Given the description of an element on the screen output the (x, y) to click on. 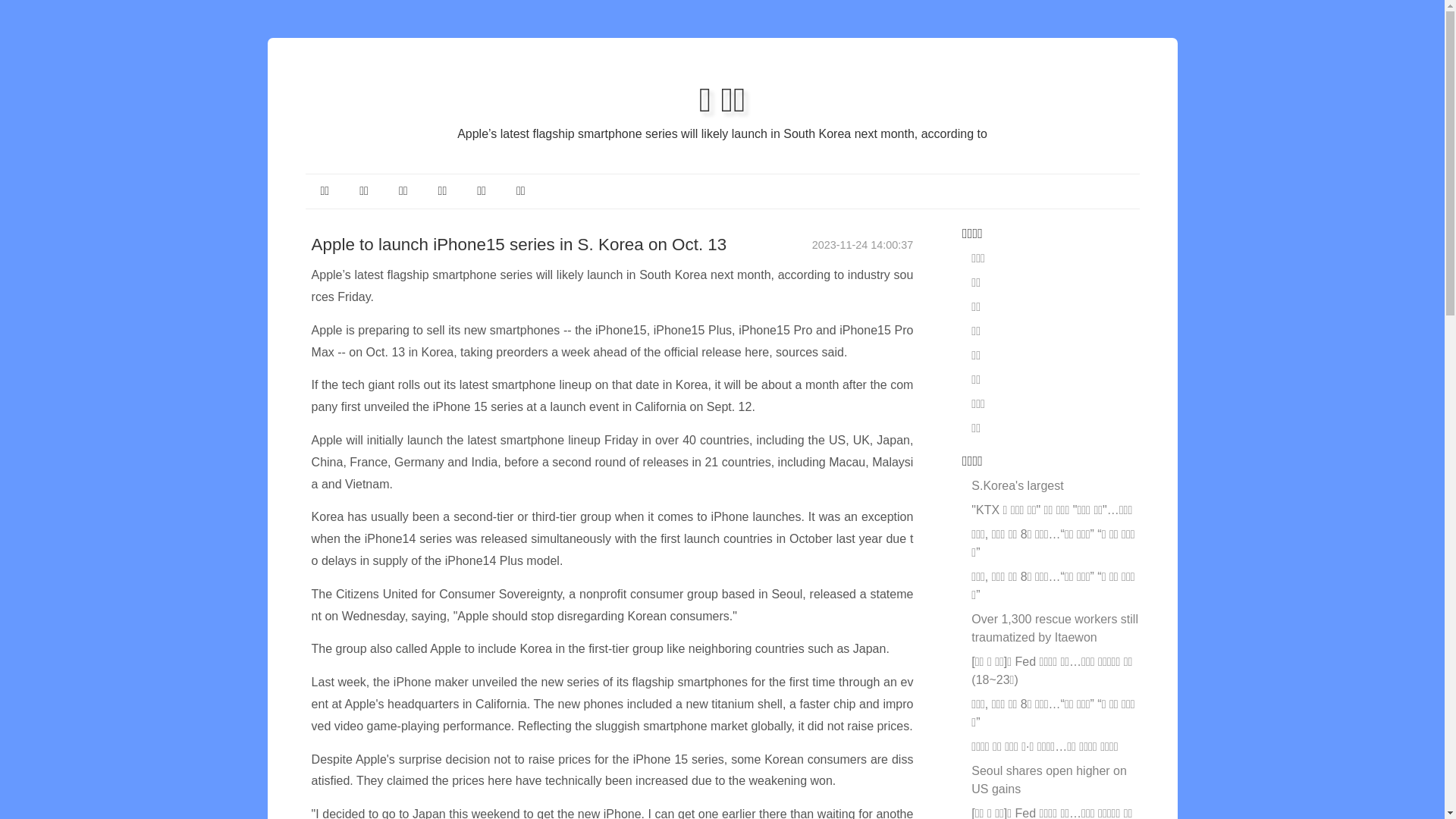
Seoul shares open higher on US gains Element type: text (1048, 779)
S.Korea's largest Element type: text (1017, 485)
